Given the description of an element on the screen output the (x, y) to click on. 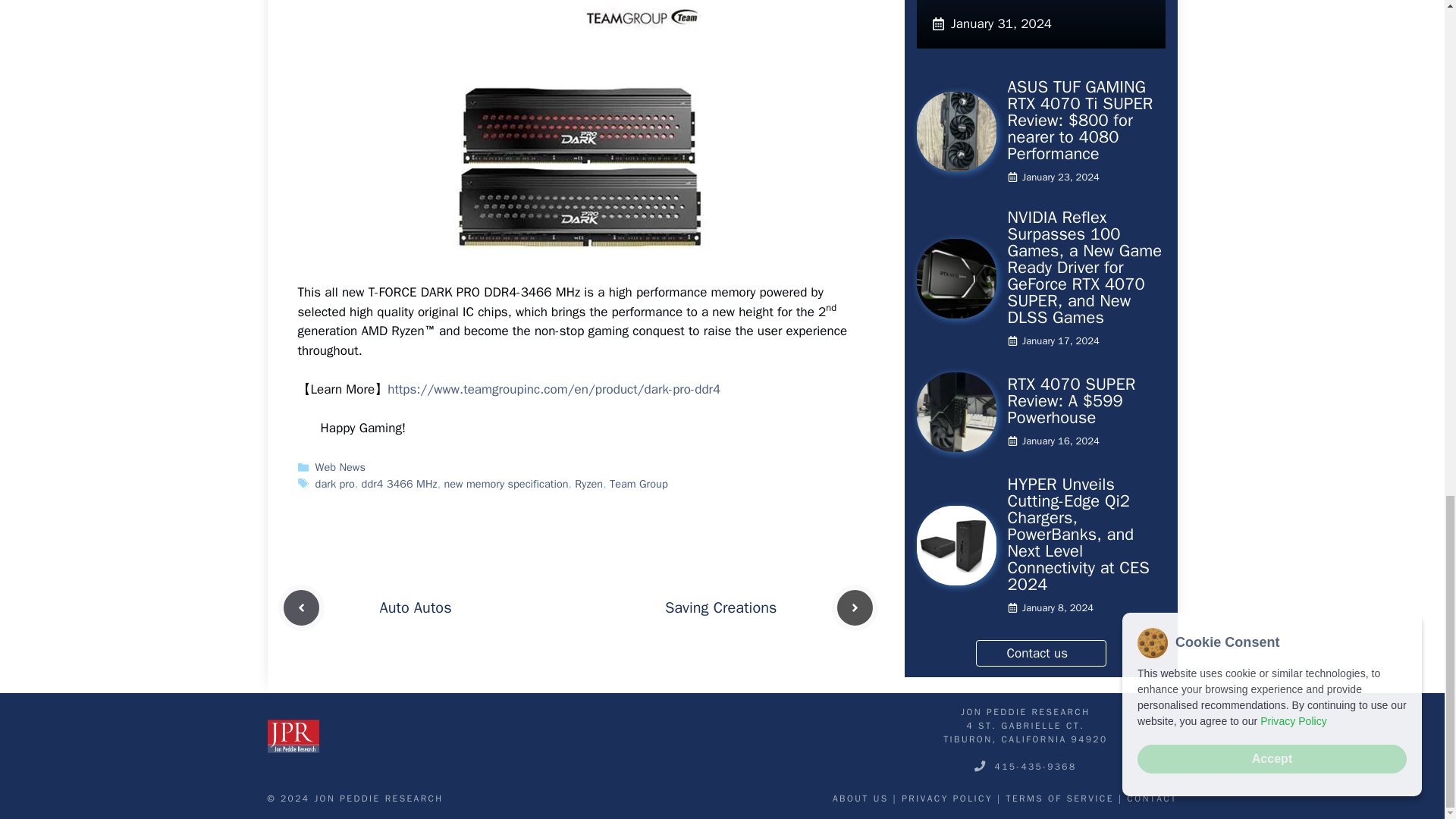
ddr4 3466 MHz (399, 483)
Ryzen (588, 483)
Team Group (639, 483)
Web News (340, 467)
dark pro (335, 483)
new memory specification (505, 483)
Scroll back to top (1406, 268)
Auto Autos (414, 607)
Saving Creations (721, 607)
